Given the description of an element on the screen output the (x, y) to click on. 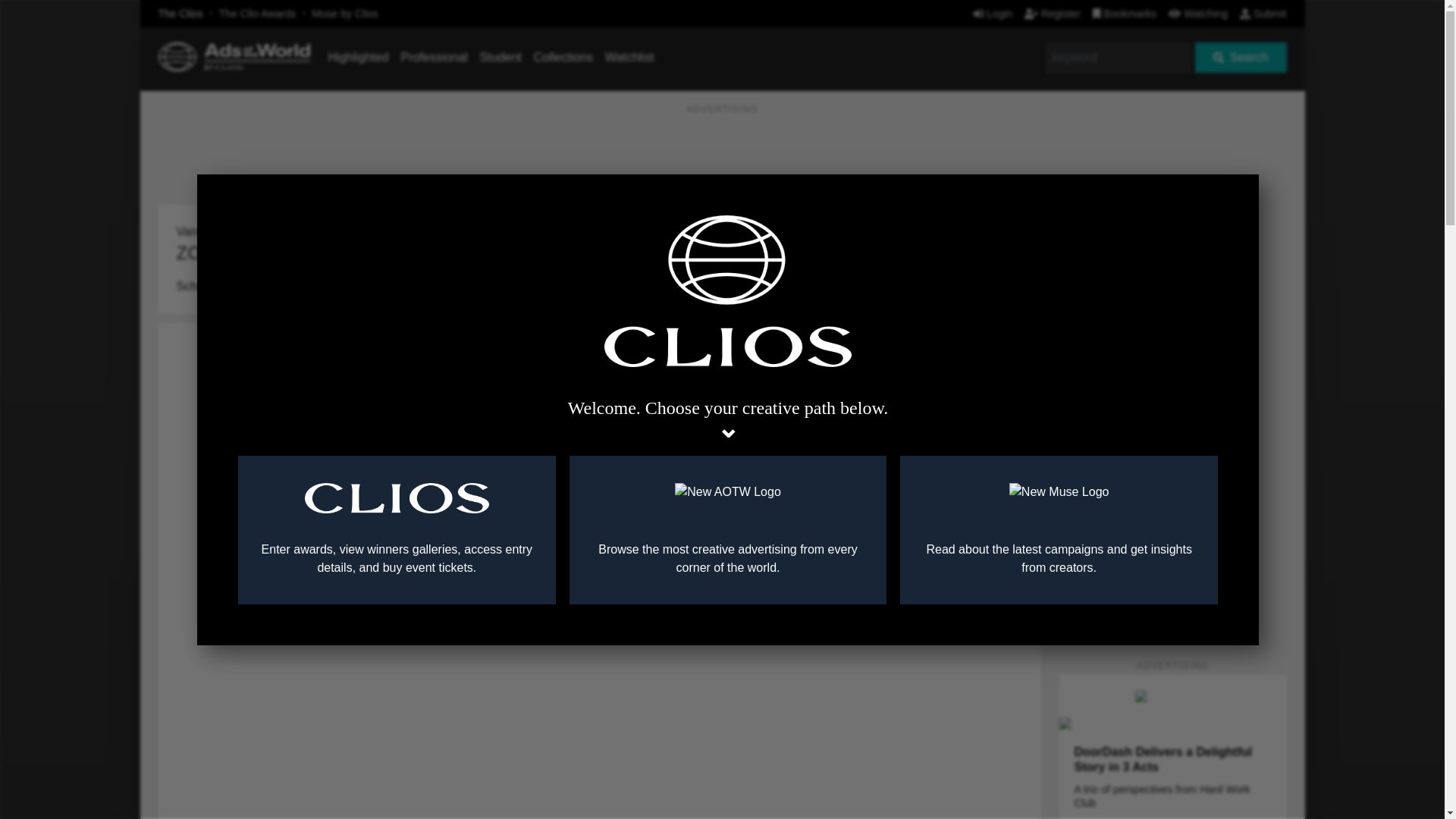
Bookmarks (1125, 13)
Collections (563, 56)
Login to Bookmark (1018, 209)
Student (500, 56)
The Clio Awards (258, 13)
Watching (1198, 13)
Muse by Clios (344, 13)
Watching (1198, 13)
Professional (434, 56)
Highlighted (357, 56)
